Given the description of an element on the screen output the (x, y) to click on. 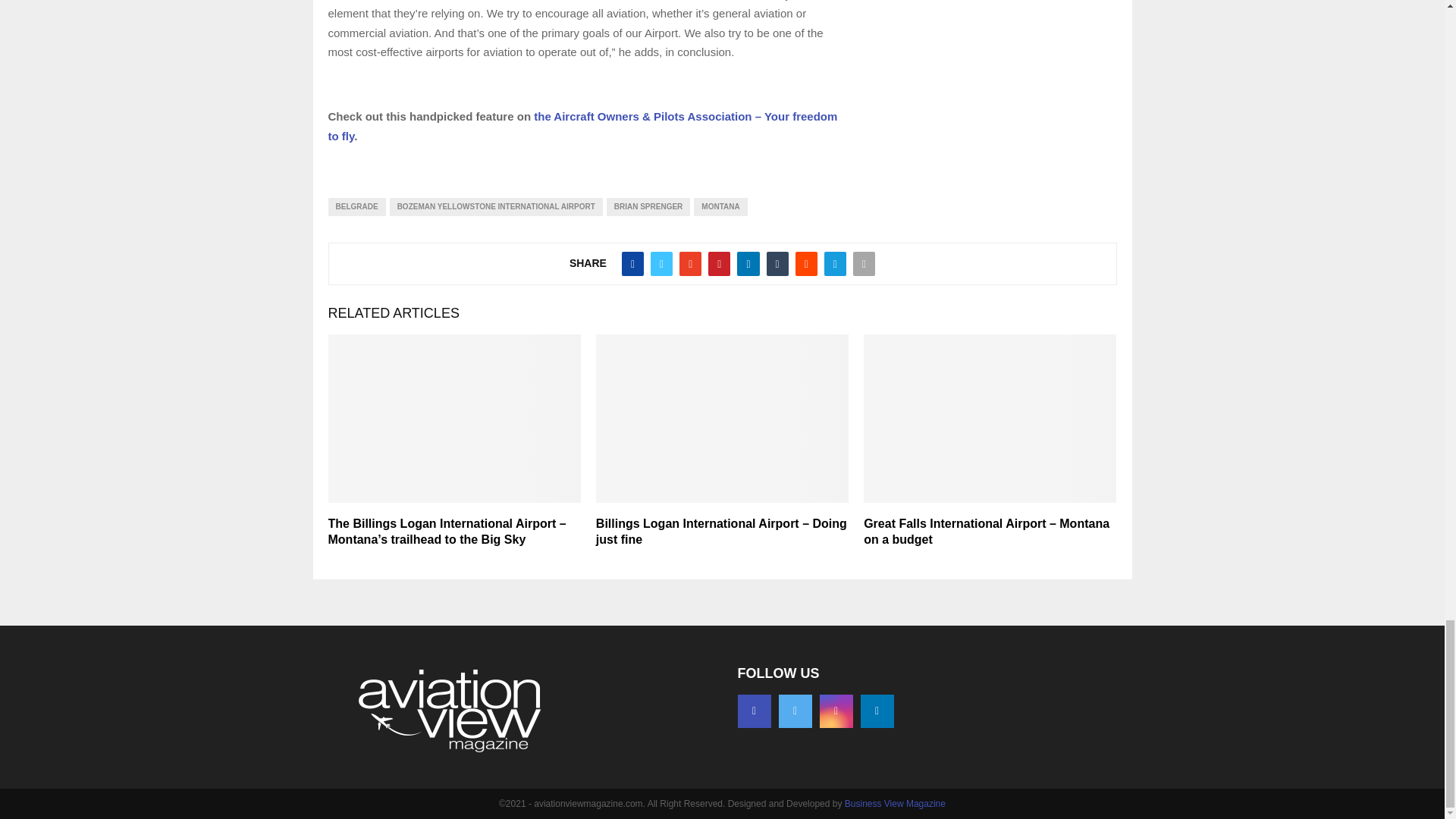
Facebook (753, 711)
Twitter (793, 711)
